Given the description of an element on the screen output the (x, y) to click on. 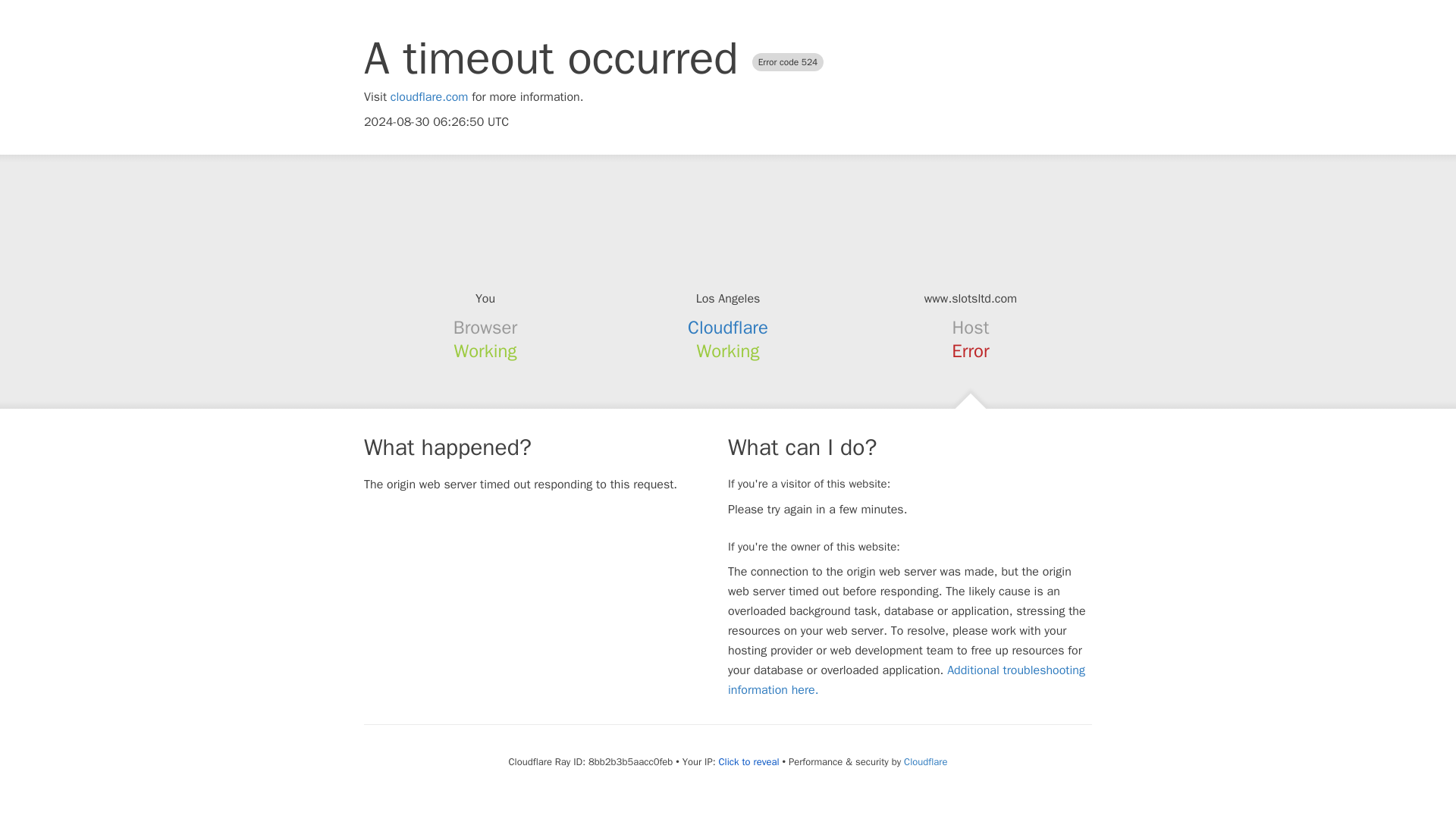
Cloudflare (925, 761)
Additional troubleshooting information here. (906, 679)
cloudflare.com (429, 96)
Click to reveal (748, 762)
Cloudflare (727, 327)
